Given the description of an element on the screen output the (x, y) to click on. 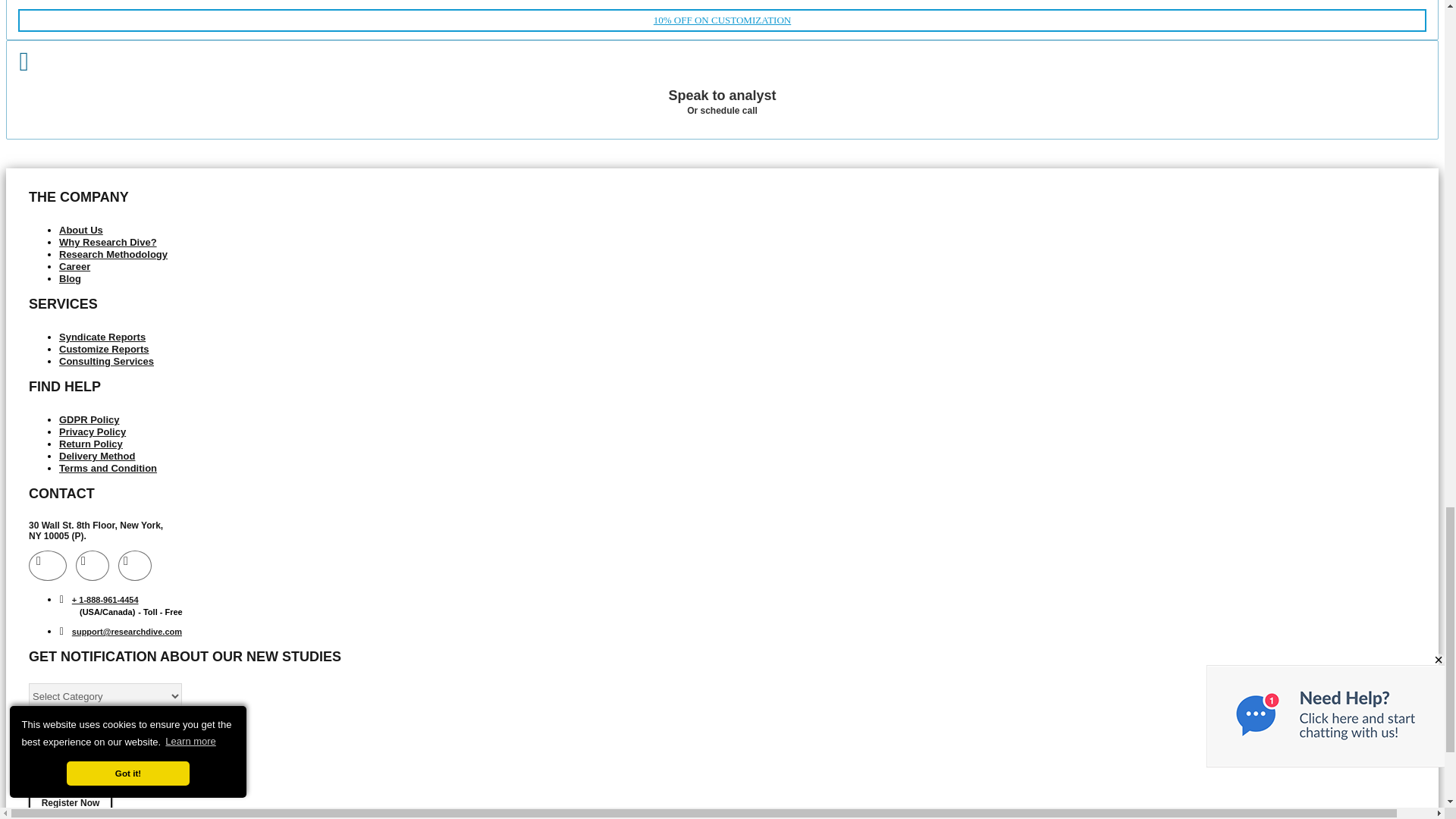
Career (74, 266)
Delivery Method (97, 455)
Consulting Services (106, 360)
Why Research Dive? (108, 242)
Return Policy (90, 443)
Privacy Policy (92, 431)
Blog (70, 278)
GDPR Policy (89, 419)
GDPR Policy (89, 419)
Research Methodology (113, 254)
Terms and Condition (108, 468)
Syndicate Reports (102, 337)
Customize Reports (103, 348)
About Us (721, 82)
